Given the description of an element on the screen output the (x, y) to click on. 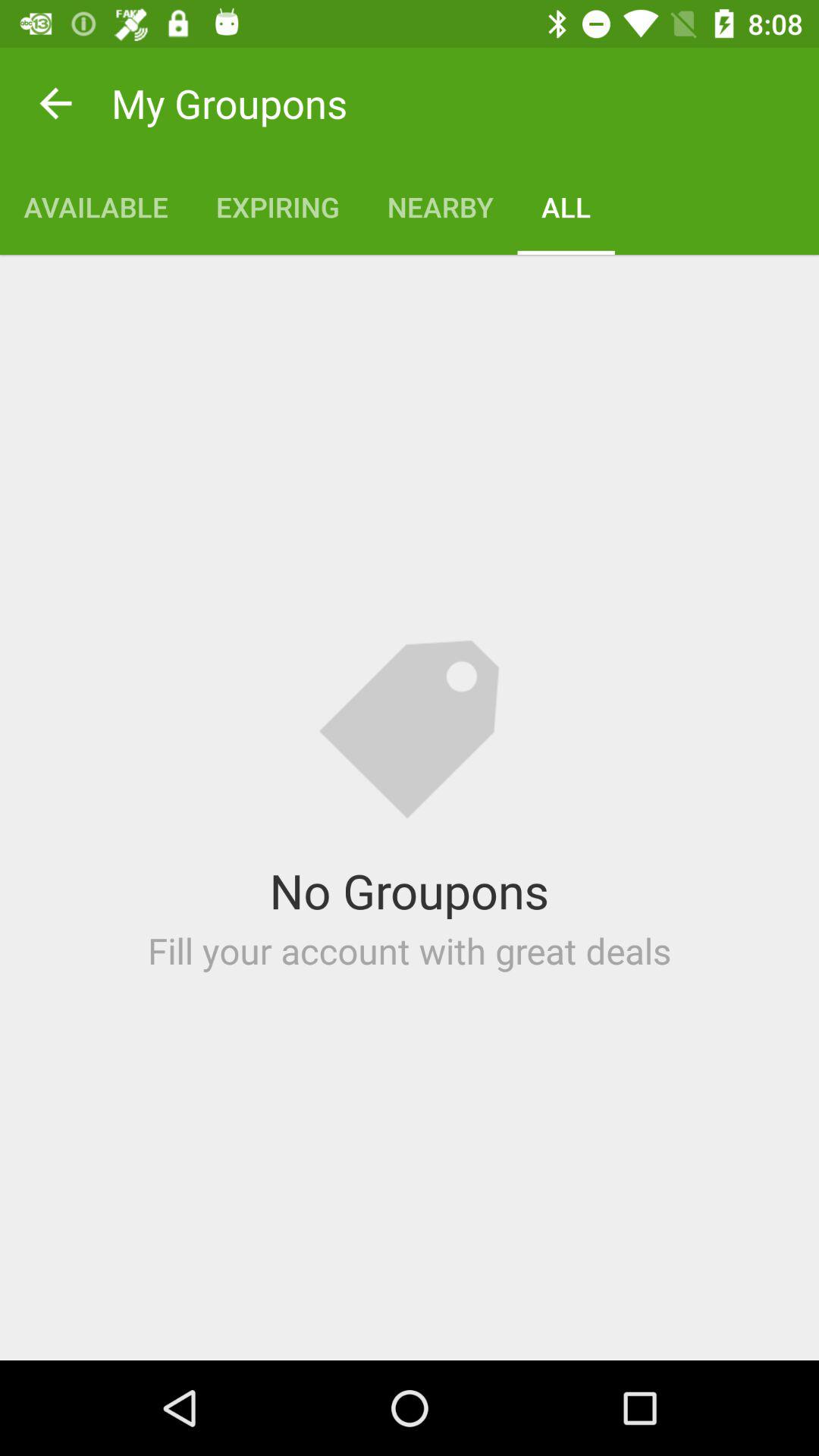
turn on the app next to the expiring (440, 206)
